Given the description of an element on the screen output the (x, y) to click on. 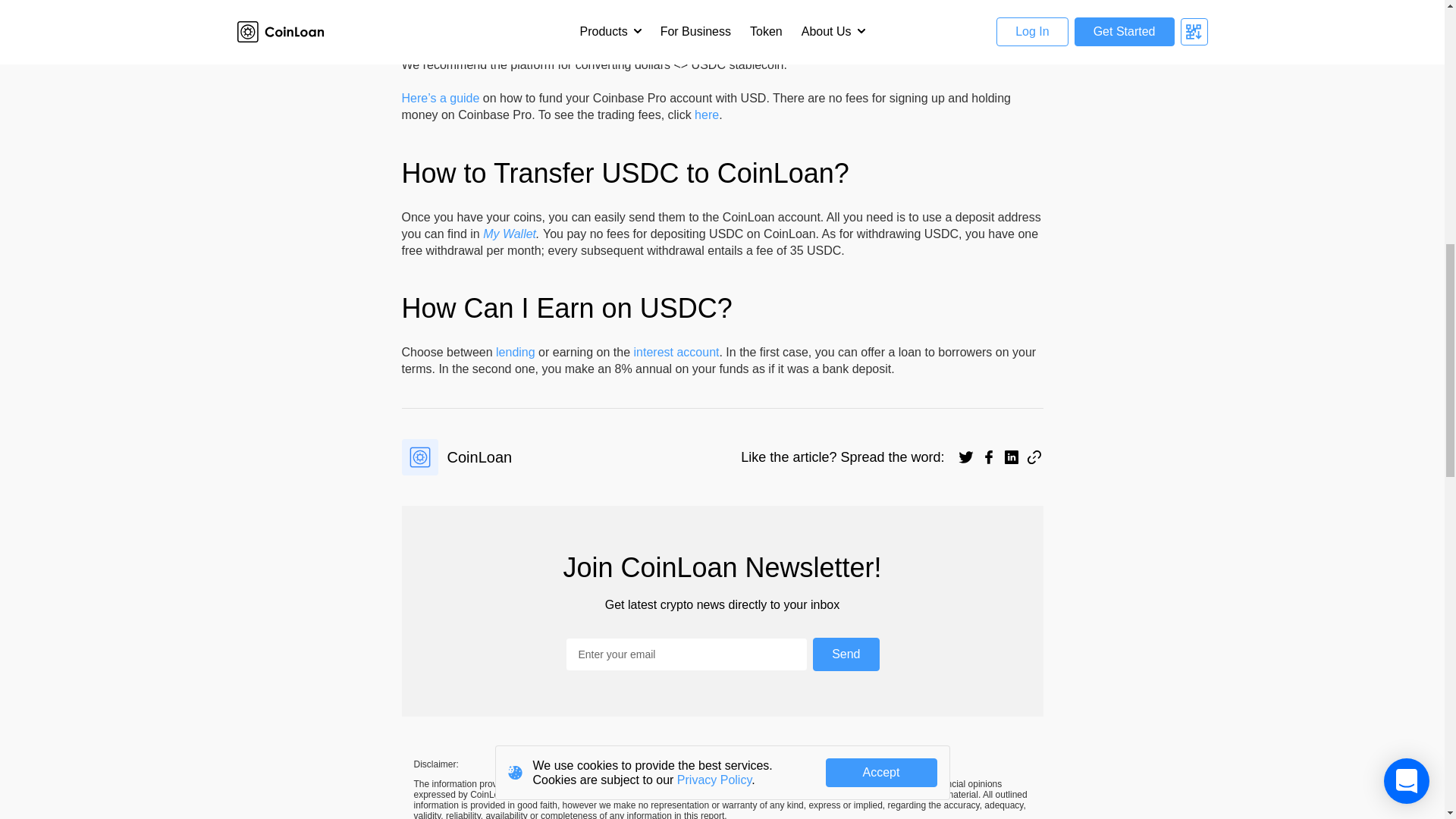
Send (845, 654)
interest account (676, 351)
My Wallet (509, 233)
Coinbase Pro (438, 47)
CoinLoan (456, 456)
lending (515, 351)
here (706, 114)
